Given the description of an element on the screen output the (x, y) to click on. 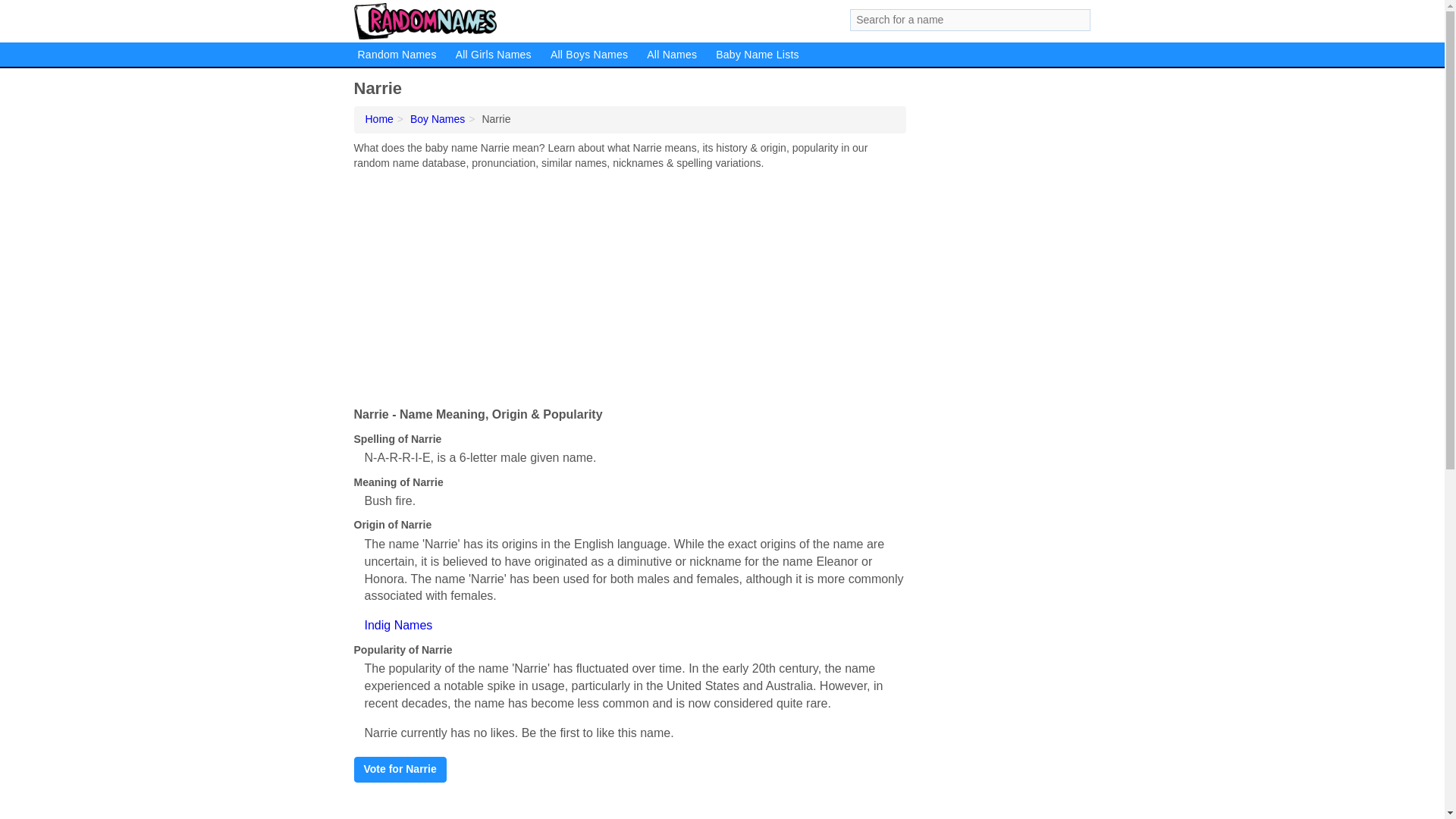
Indig Names (398, 625)
Boy Names (437, 119)
All Names (671, 54)
Home (379, 119)
Baby Name Lists (756, 54)
All Boys' Names A-Z (588, 54)
Boy Names (437, 119)
Indig Names (398, 625)
Vote for Narrie (399, 769)
All Girls' Names A-Z (493, 54)
All Boys Names (588, 54)
Random Names (397, 54)
All Girls Names (493, 54)
All Names A-Z (671, 54)
Advertisement (629, 285)
